Given the description of an element on the screen output the (x, y) to click on. 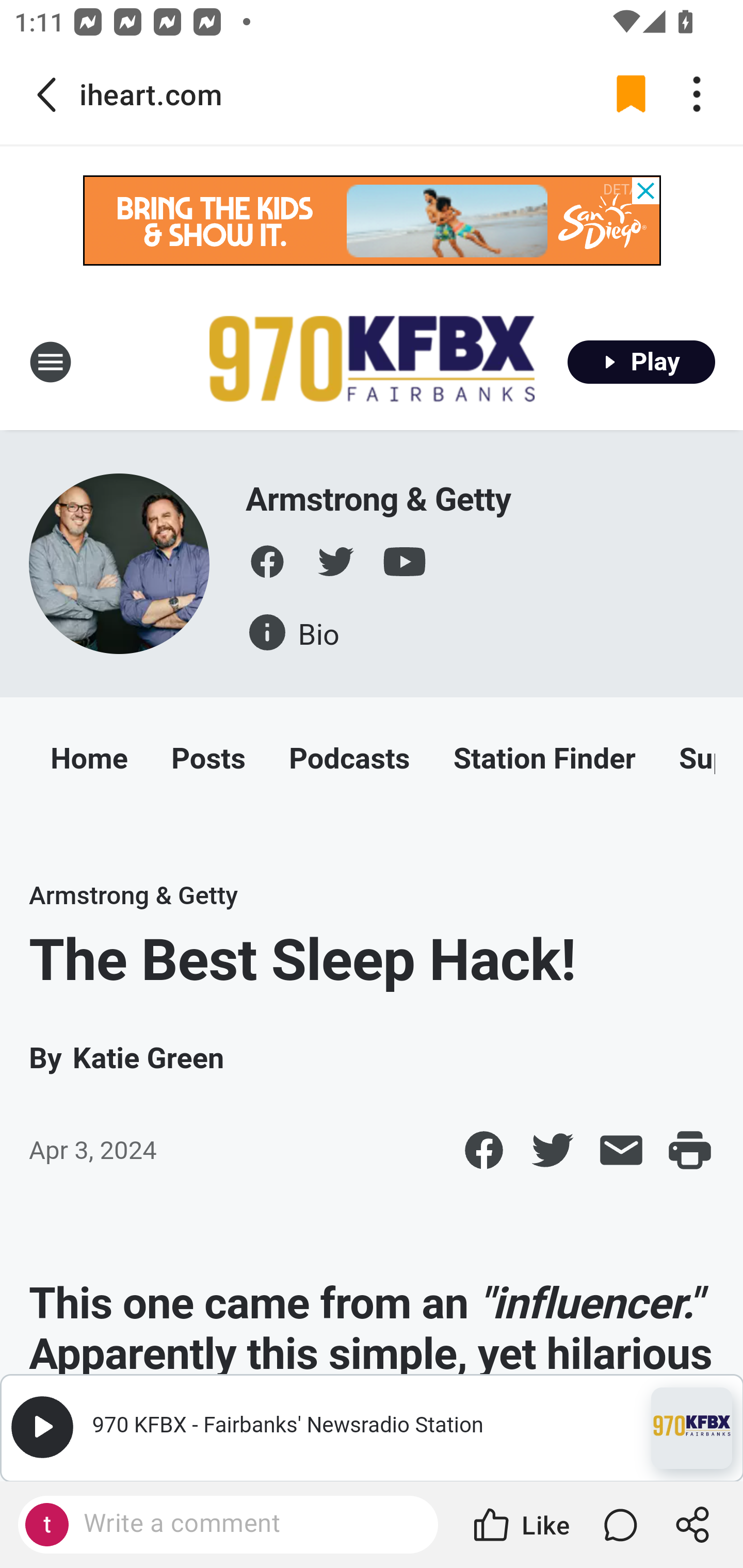
SafeFrame Container SDT_Family (320x50) DETAILS (372, 219)
DETAILS (627, 189)
Open Site Navigation (50, 361)
Play Stream Now (641, 361)
Armstrong & Getty (119, 563)
Visit us on facebook (267, 561)
Visit us on twitter (336, 561)
Visit us on youtube (404, 561)
Bio (293, 631)
Home (88, 762)
Posts (207, 762)
Podcasts (348, 762)
Station Finder (544, 762)
Superstore (696, 762)
Armstrong & Getty (133, 895)
Share this page on Facebook (483, 1150)
Share this page on Twitter (552, 1150)
Share this page in Email (621, 1150)
Print this page (690, 1150)
970 KFBX (685, 1422)
Play (42, 1427)
Like (519, 1524)
Write a comment (227, 1524)
Write a comment (245, 1523)
